Given the description of an element on the screen output the (x, y) to click on. 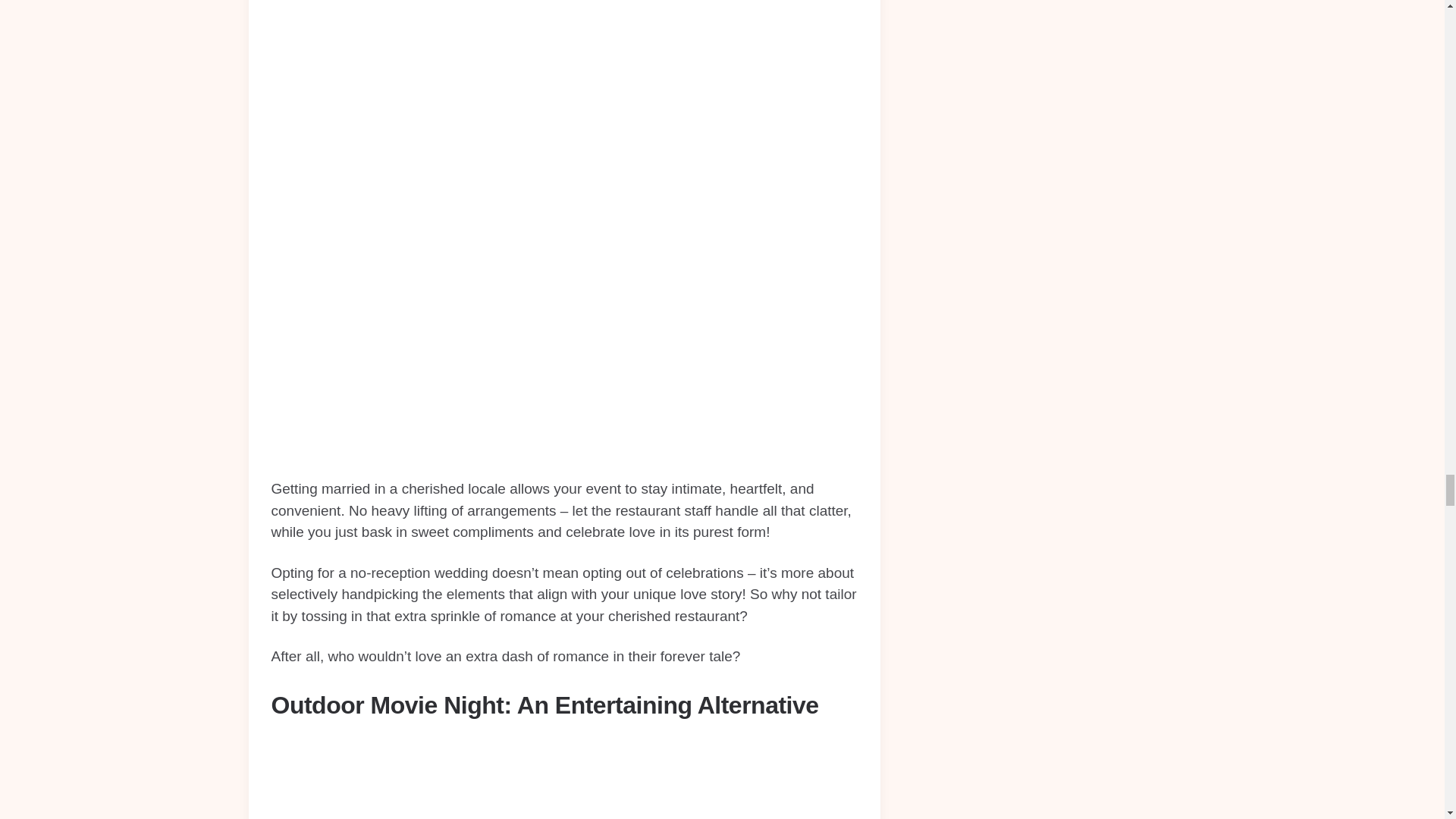
Outdoor wedding movie night (564, 780)
